Given the description of an element on the screen output the (x, y) to click on. 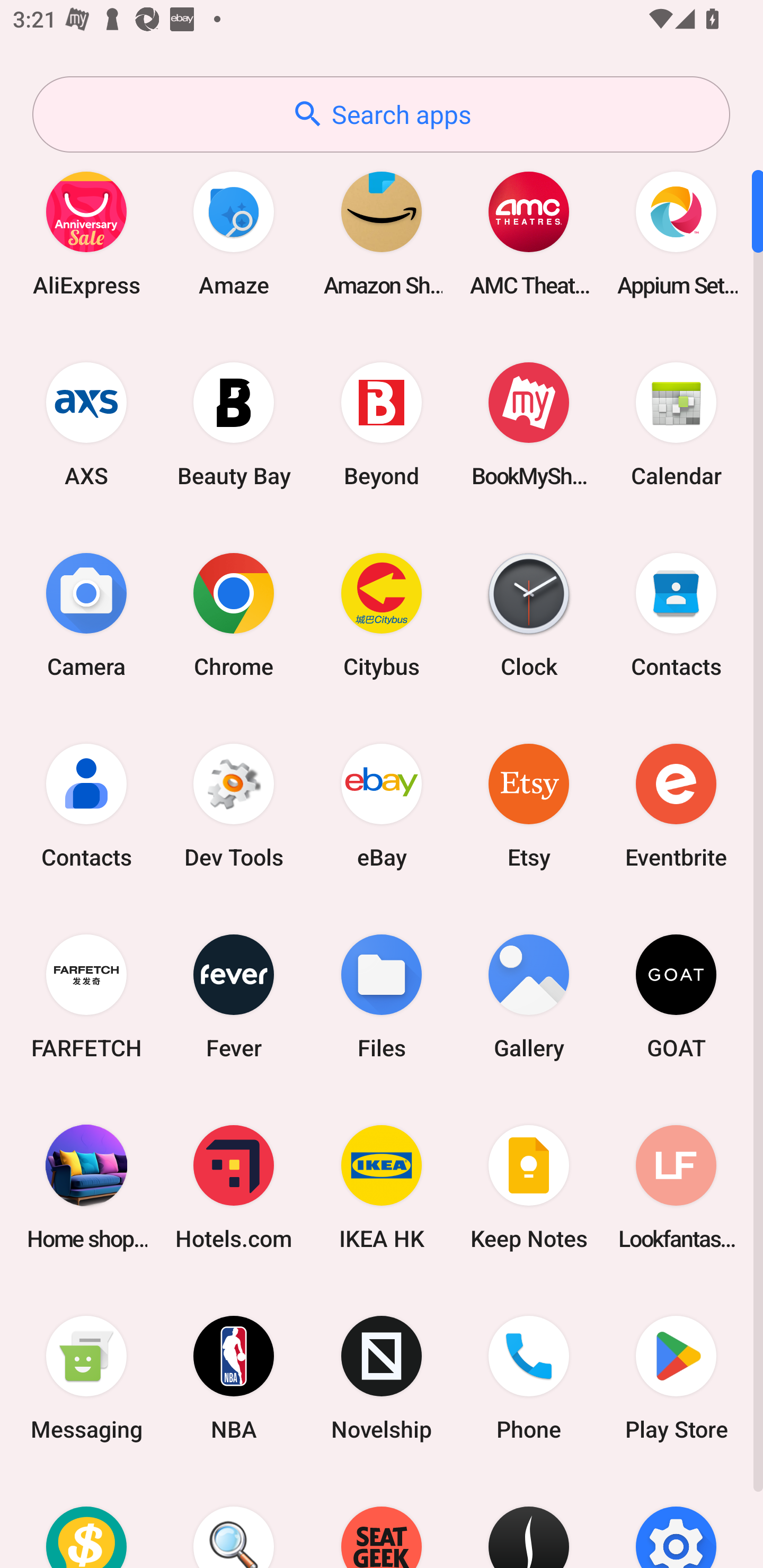
  Search apps (381, 114)
AliExpress (86, 233)
Amaze (233, 233)
Amazon Shopping (381, 233)
AMC Theatres (528, 233)
Appium Settings (676, 233)
AXS (86, 424)
Beauty Bay (233, 424)
Beyond (381, 424)
BookMyShow (528, 424)
Calendar (676, 424)
Camera (86, 614)
Chrome (233, 614)
Citybus (381, 614)
Clock (528, 614)
Contacts (676, 614)
Contacts (86, 805)
Dev Tools (233, 805)
eBay (381, 805)
Etsy (528, 805)
Eventbrite (676, 805)
FARFETCH (86, 996)
Fever (233, 996)
Files (381, 996)
Gallery (528, 996)
GOAT (676, 996)
Home shopping (86, 1186)
Hotels.com (233, 1186)
IKEA HK (381, 1186)
Keep Notes (528, 1186)
Lookfantastic (676, 1186)
Messaging (86, 1377)
NBA (233, 1377)
Novelship (381, 1377)
Phone (528, 1377)
Play Store (676, 1377)
